Given the description of an element on the screen output the (x, y) to click on. 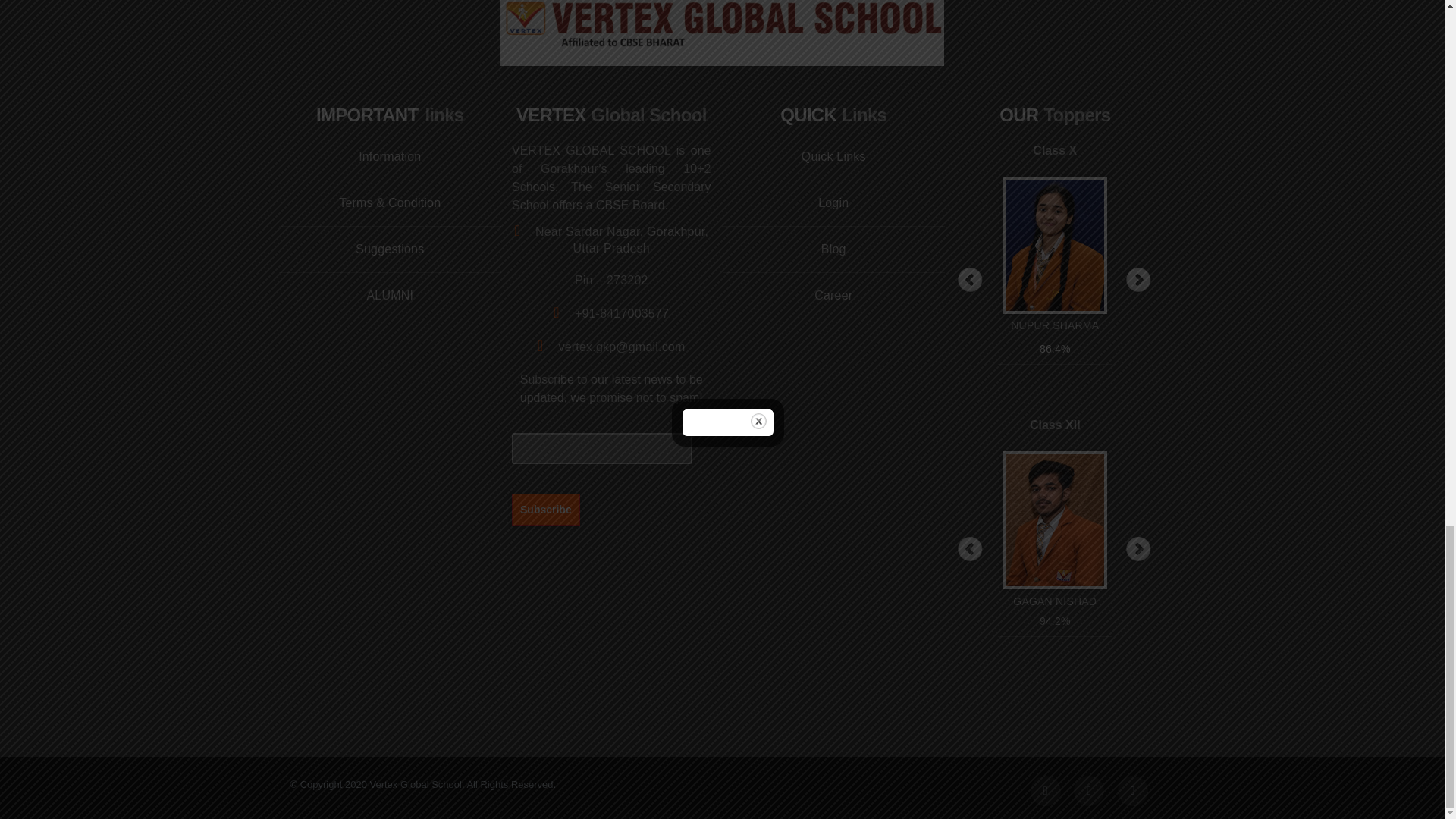
Subscribe (545, 508)
